Given the description of an element on the screen output the (x, y) to click on. 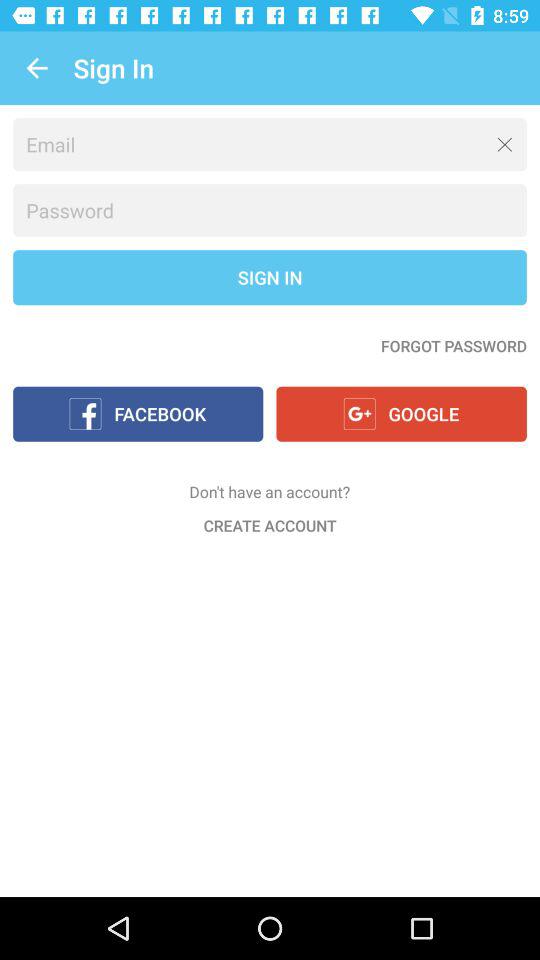
tap the icon next to sign in item (36, 68)
